Given the description of an element on the screen output the (x, y) to click on. 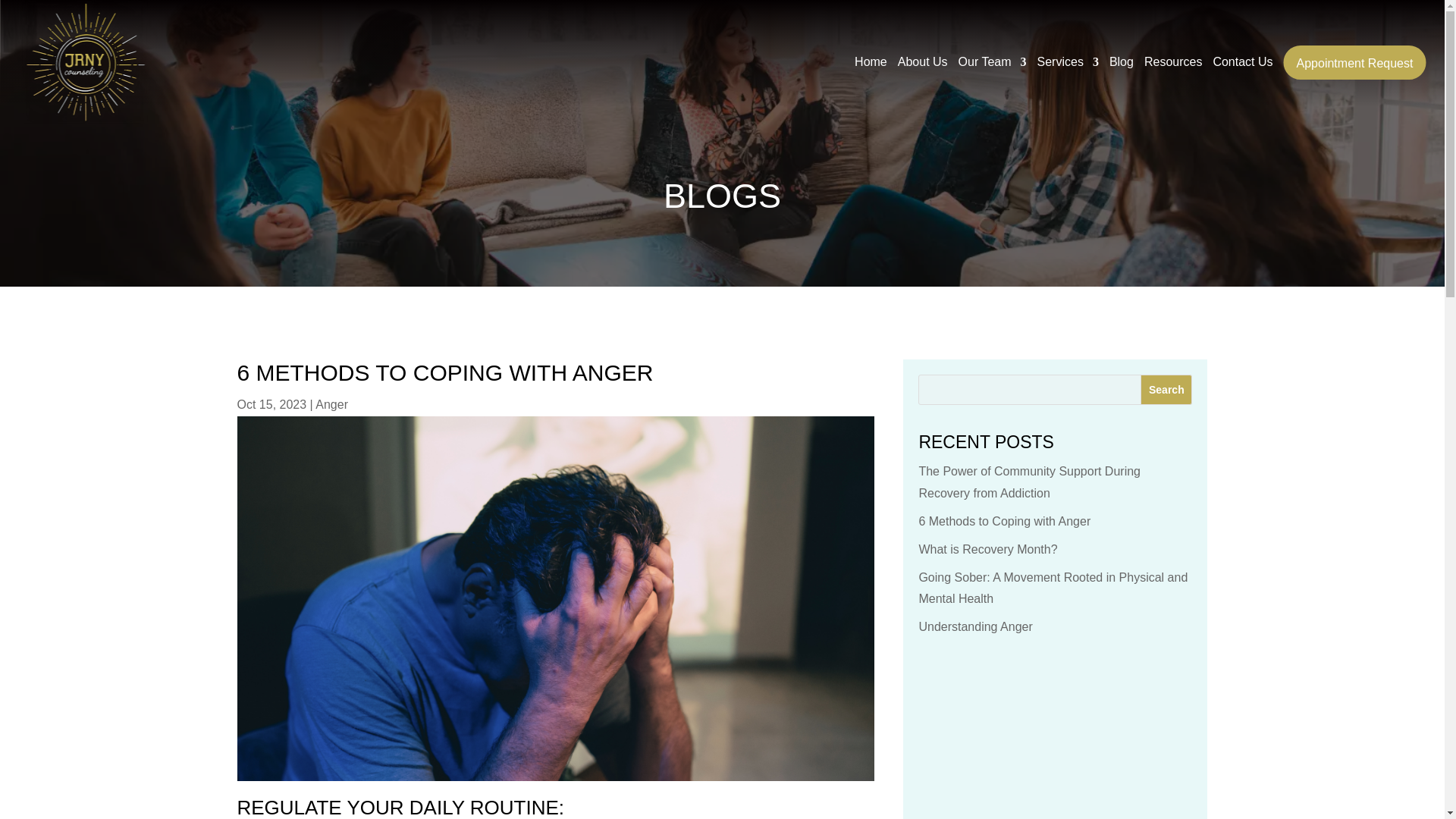
Services (1067, 61)
Our Team (992, 61)
Appointment Request (1355, 61)
Contact Us (1242, 61)
Resources (1173, 61)
